Given the description of an element on the screen output the (x, y) to click on. 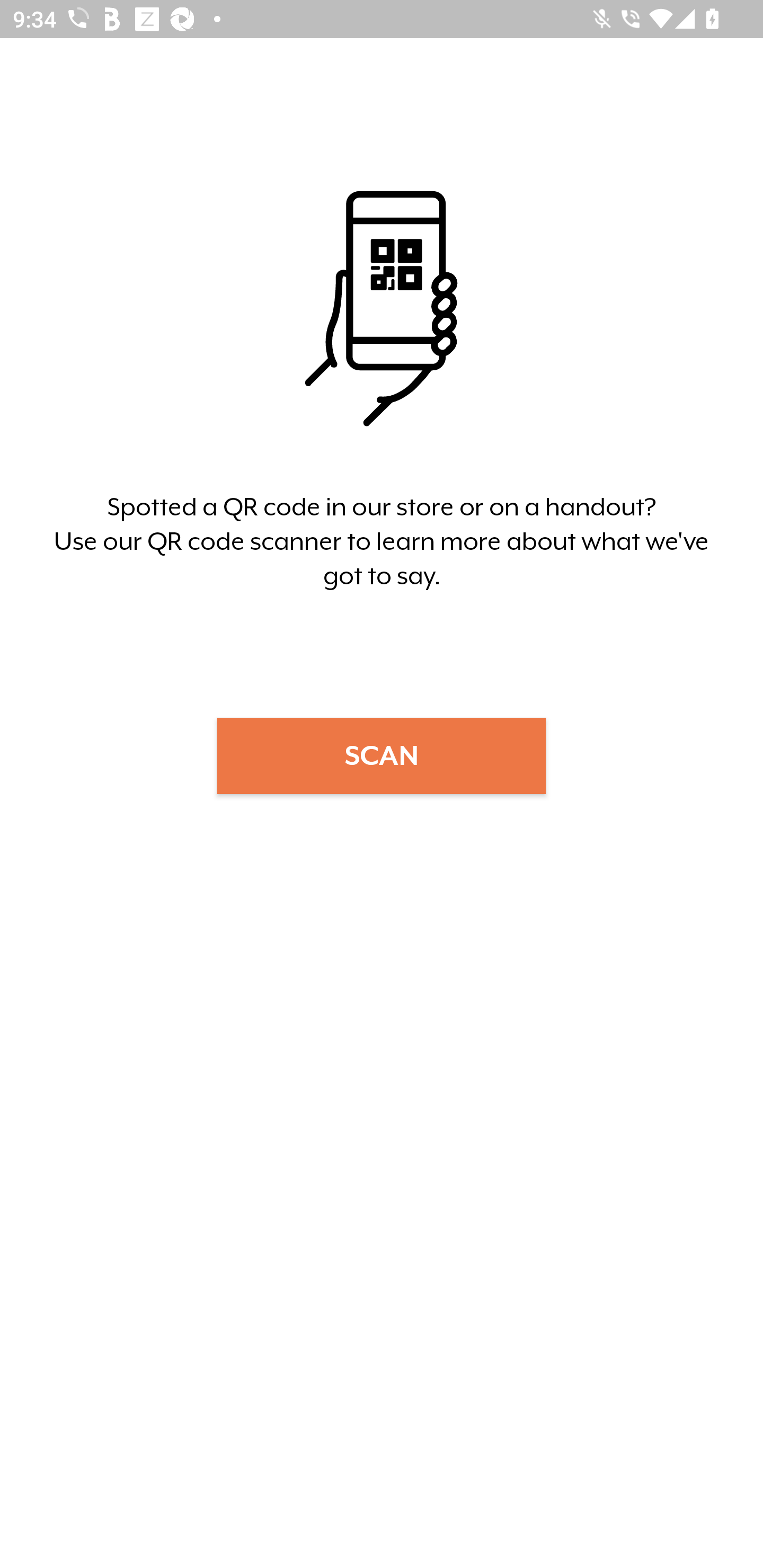
SCAN (381, 755)
